Given the description of an element on the screen output the (x, y) to click on. 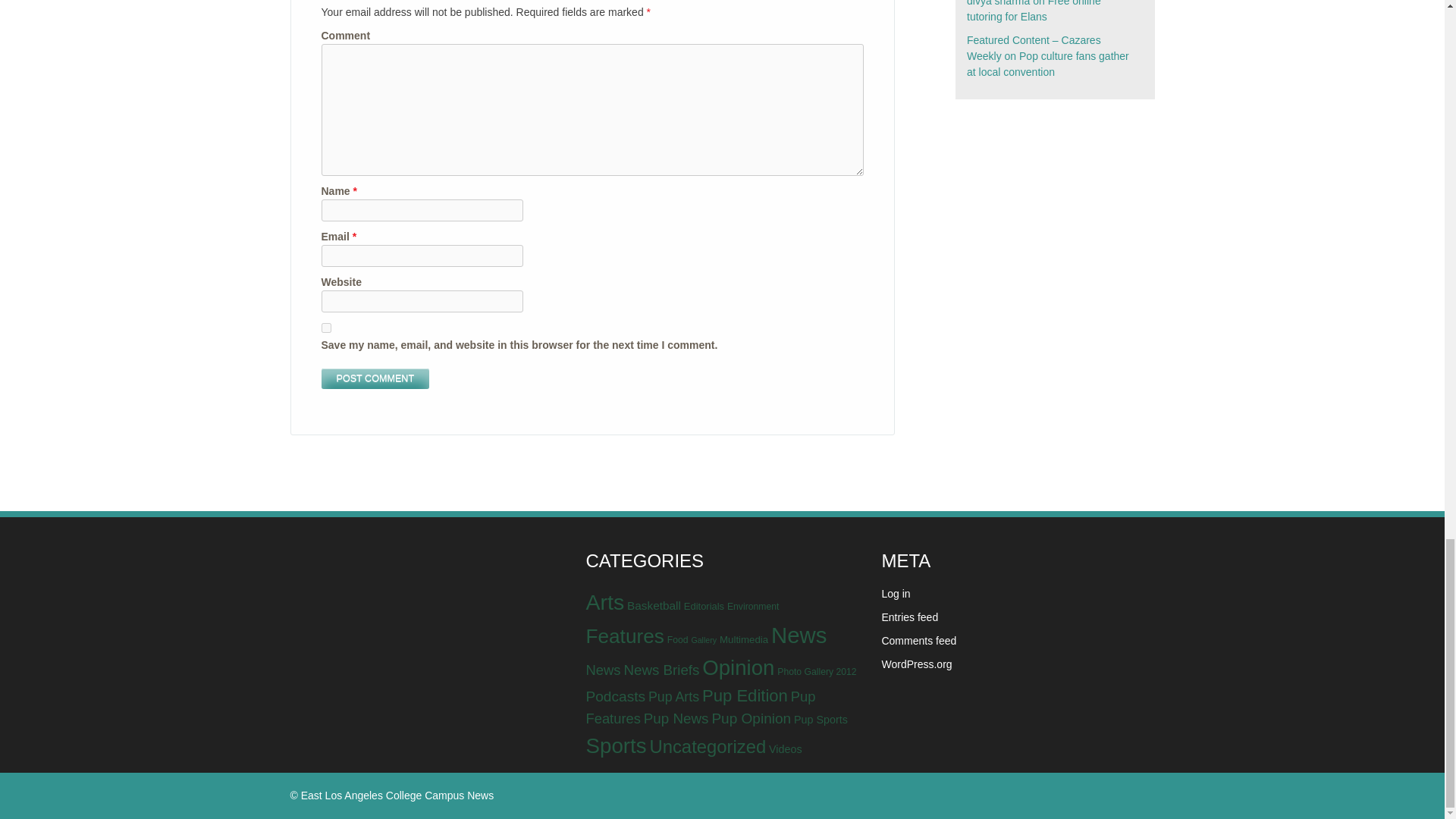
Post Comment (375, 378)
yes (326, 327)
